Given the description of an element on the screen output the (x, y) to click on. 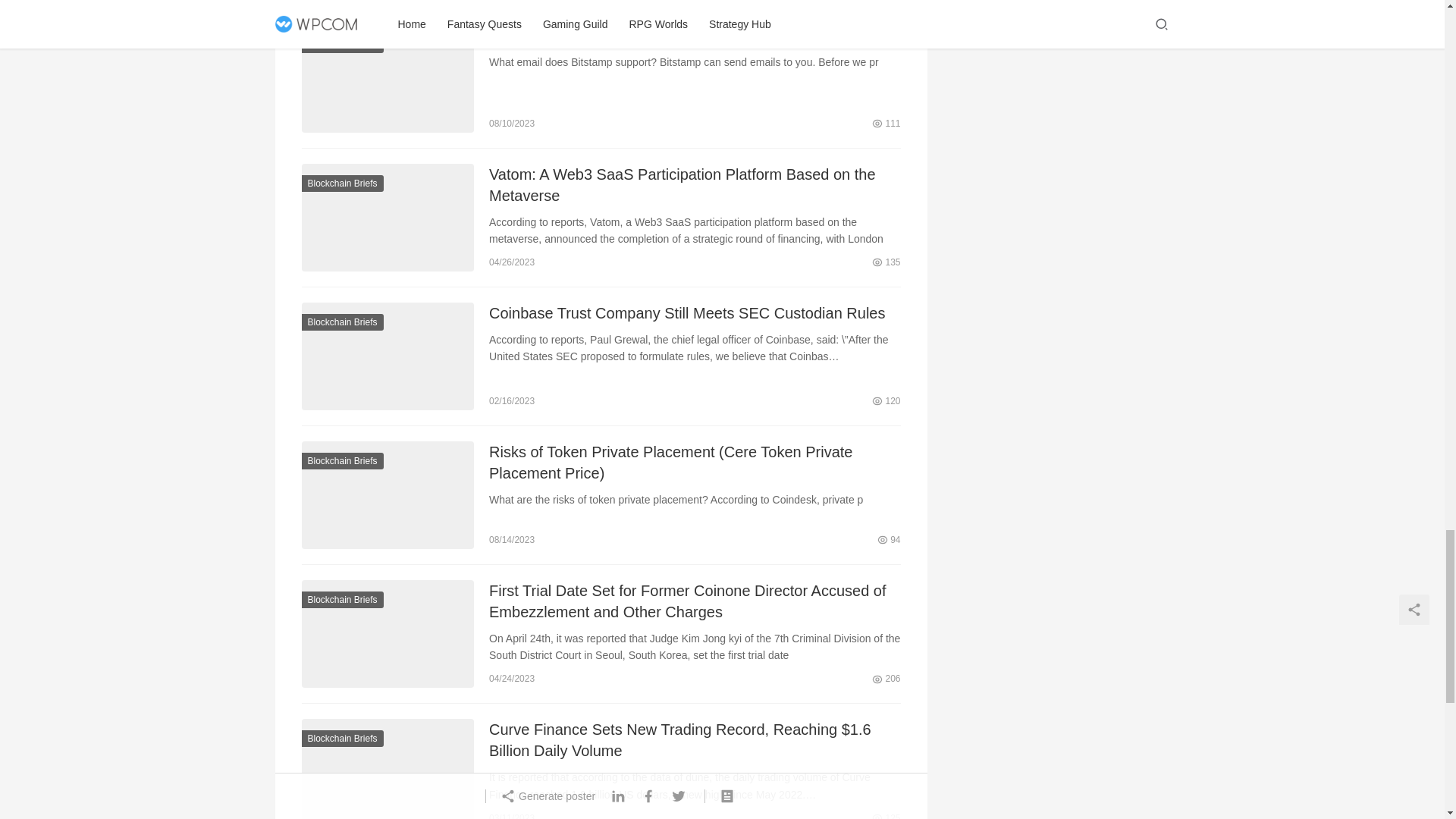
Blockchain Briefs (342, 44)
